Given the description of an element on the screen output the (x, y) to click on. 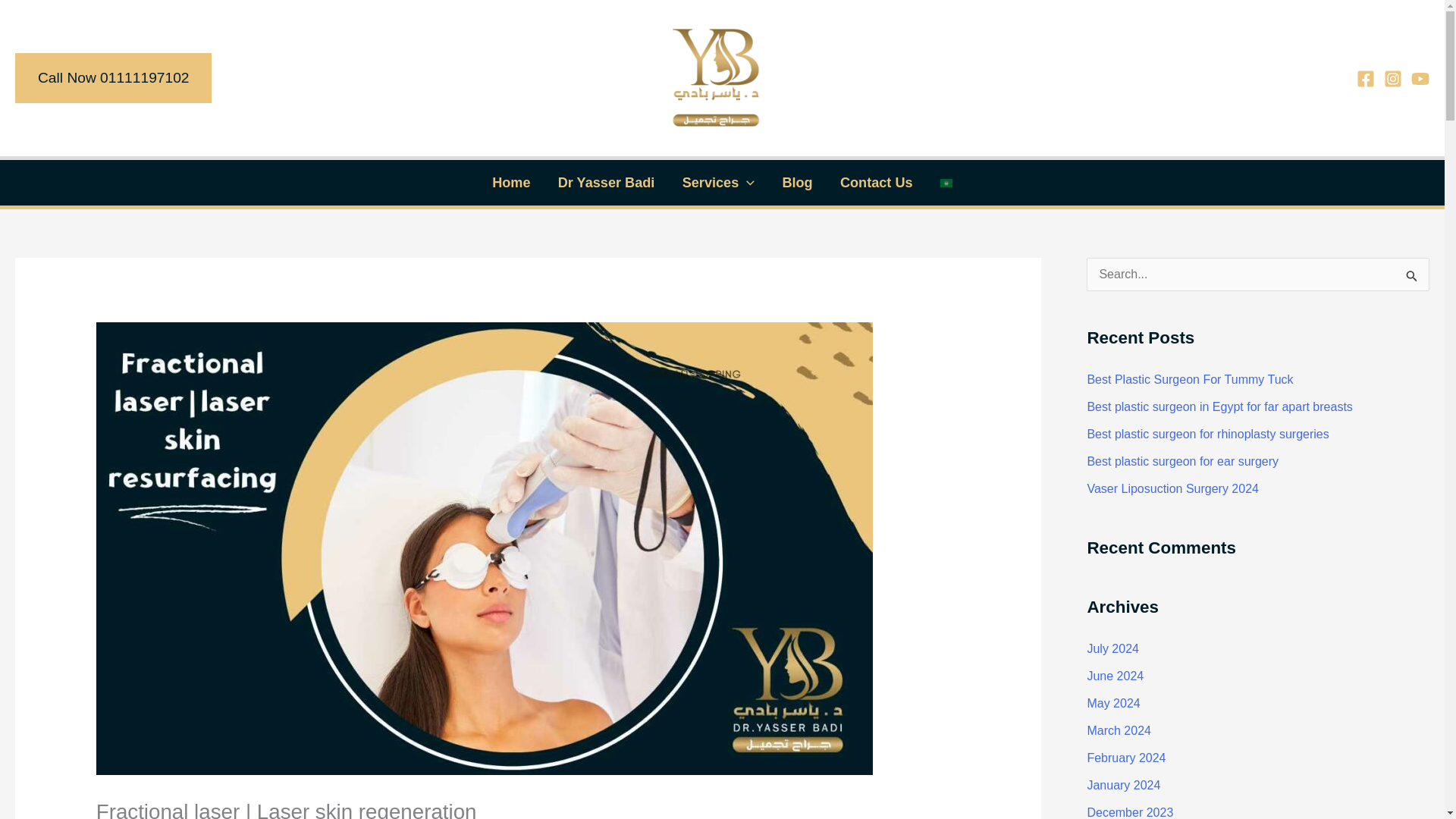
Services (718, 182)
Dr Yasser Badi (606, 182)
Home (511, 182)
Call Now 01111197102 (112, 78)
Blog (797, 182)
Contact Us (876, 182)
